Given the description of an element on the screen output the (x, y) to click on. 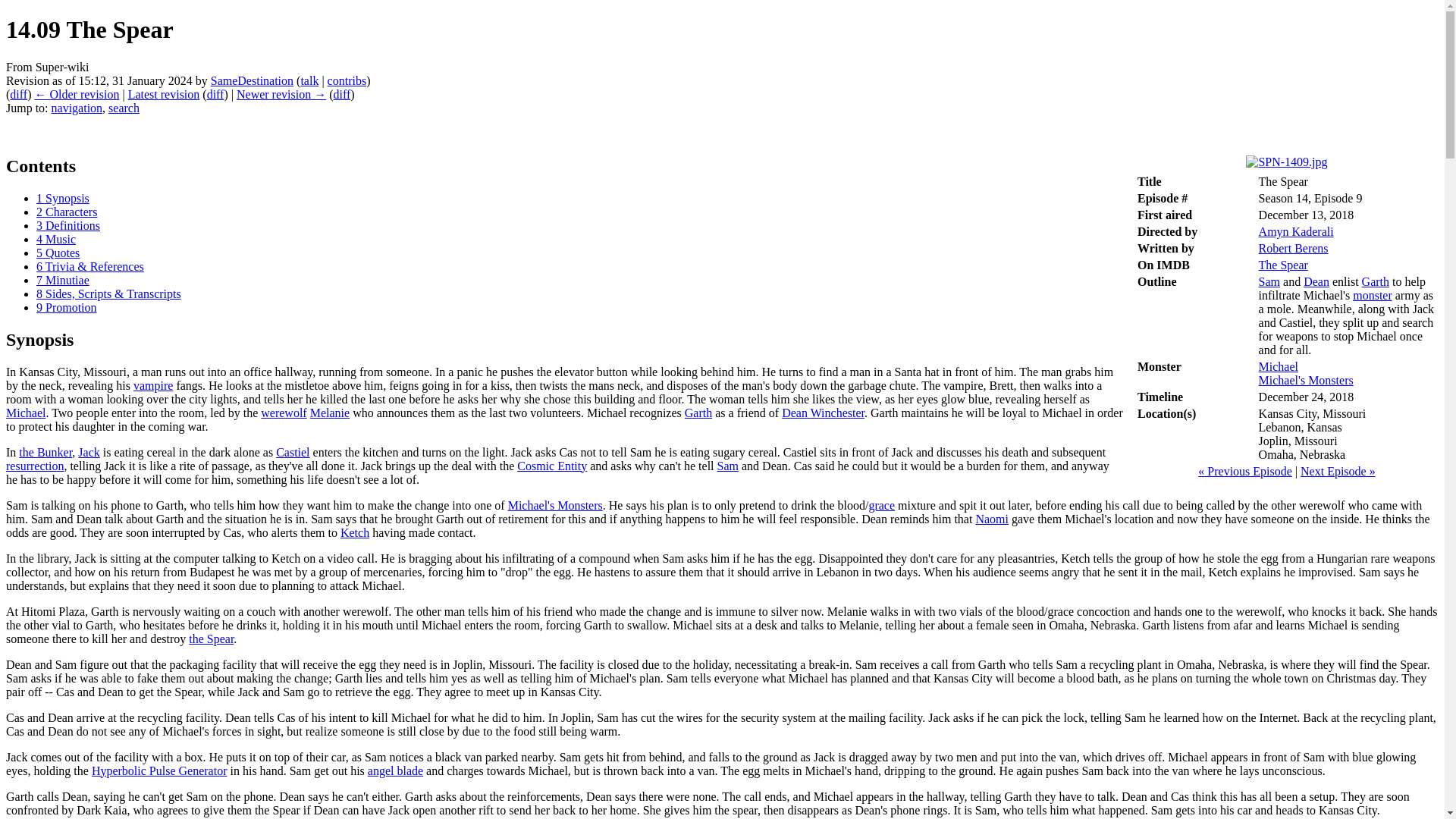
talk (308, 80)
14.09 The Spear (280, 93)
diff (341, 93)
14.09 The Spear (164, 93)
SameDestination (252, 80)
3 Definitions (68, 225)
monster (1371, 295)
Garth (1375, 281)
7 Minutiae (62, 279)
14.09 The Spear (215, 93)
